Given the description of an element on the screen output the (x, y) to click on. 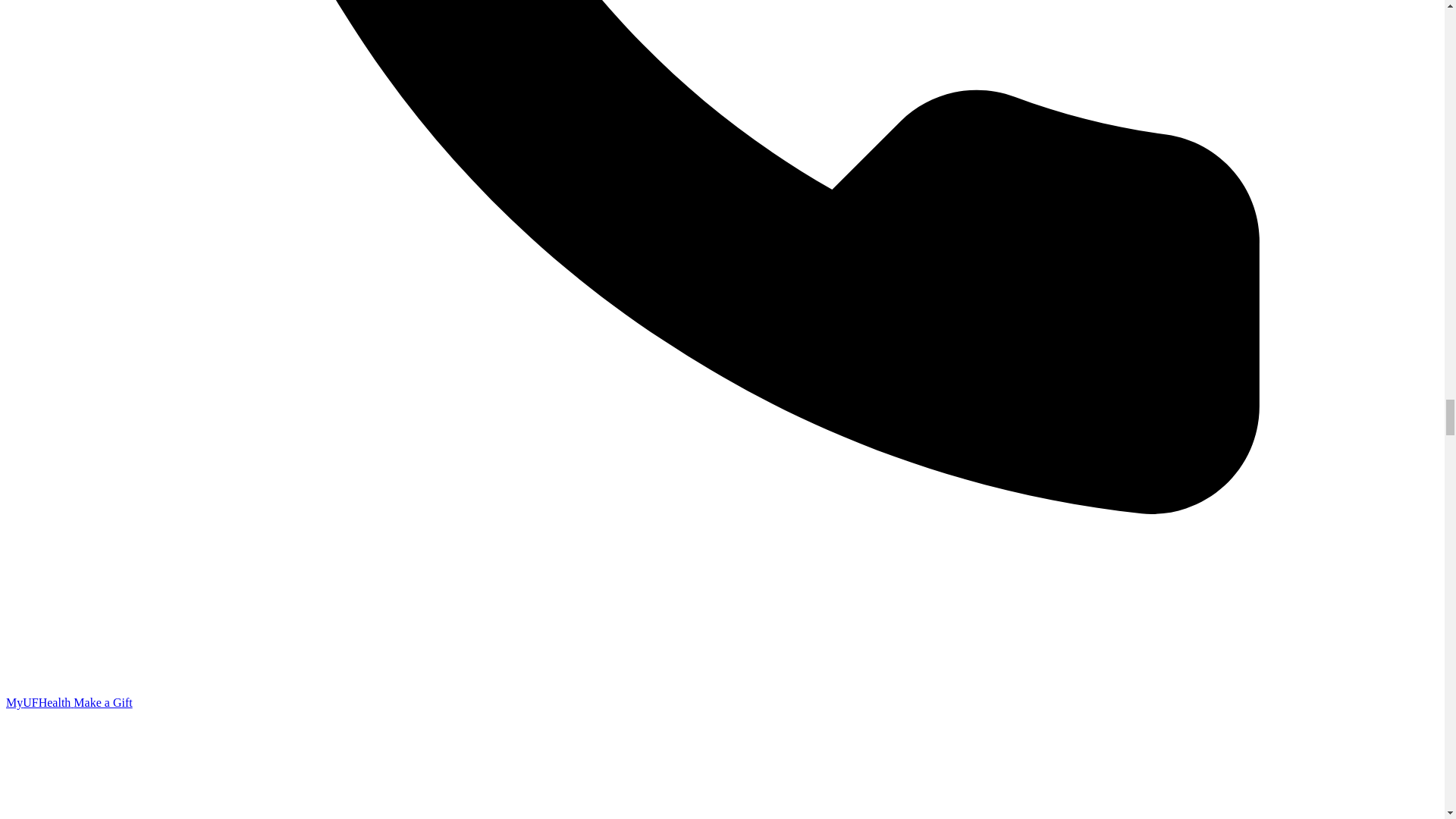
MyUFHealth (39, 702)
